Given the description of an element on the screen output the (x, y) to click on. 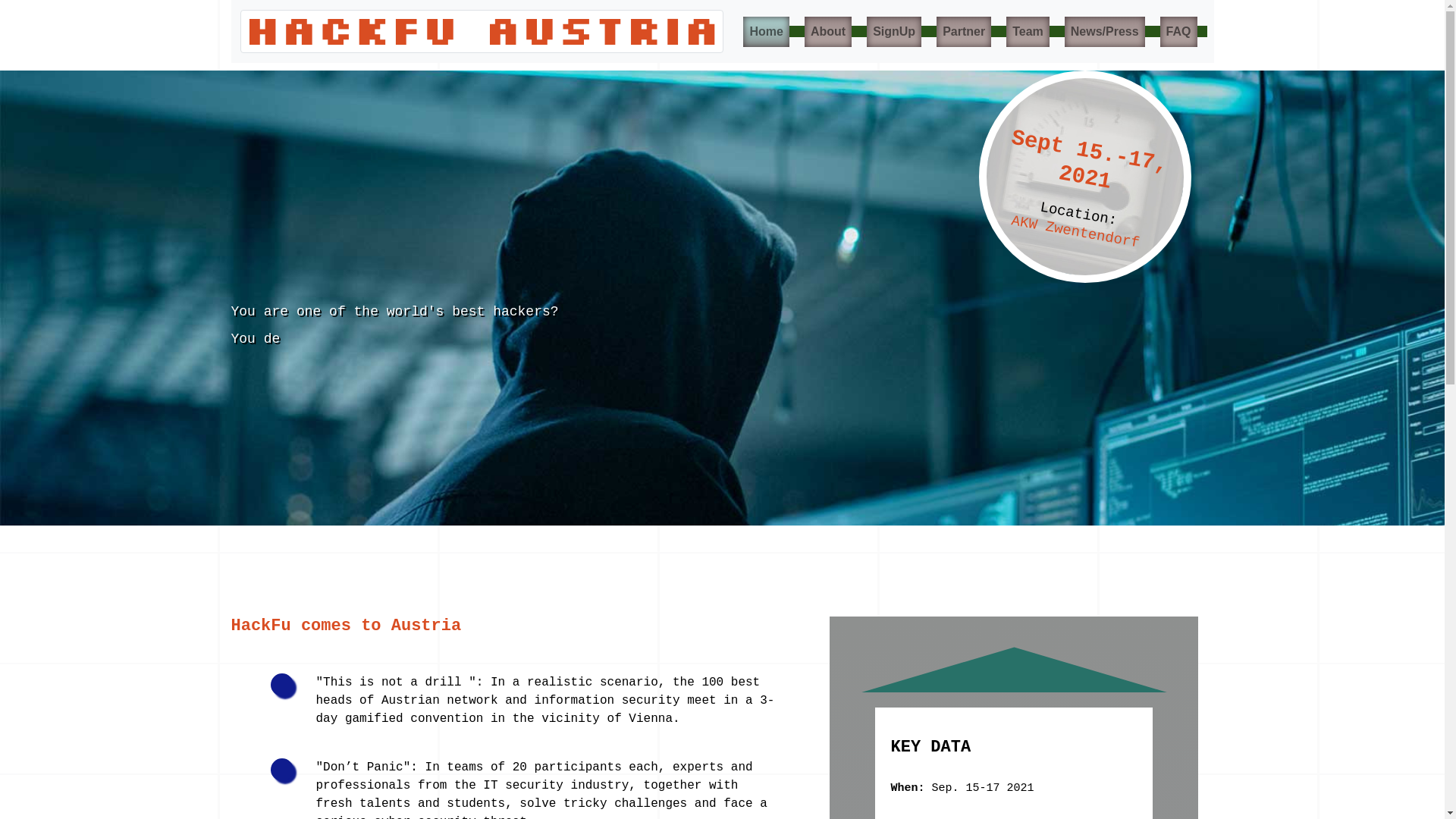
Home (765, 31)
Team (1027, 31)
AKW Zwentendorf (1075, 220)
About (828, 31)
SignUp (893, 31)
Partner (963, 31)
FAQ (1178, 31)
